Given the description of an element on the screen output the (x, y) to click on. 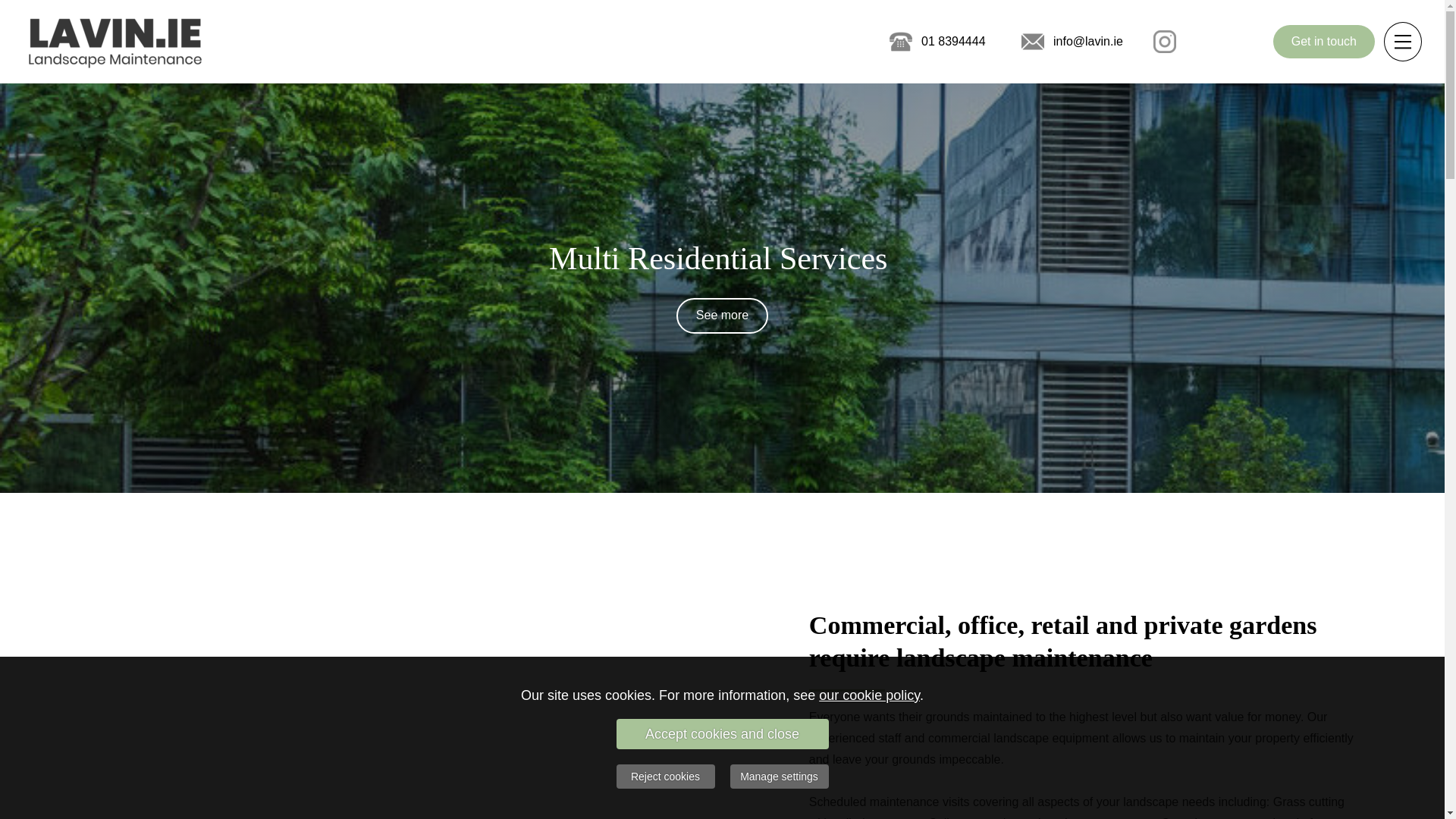
See more (722, 315)
Manage settings (778, 776)
Get in touch (1323, 41)
our cookie policy (869, 694)
